Given the description of an element on the screen output the (x, y) to click on. 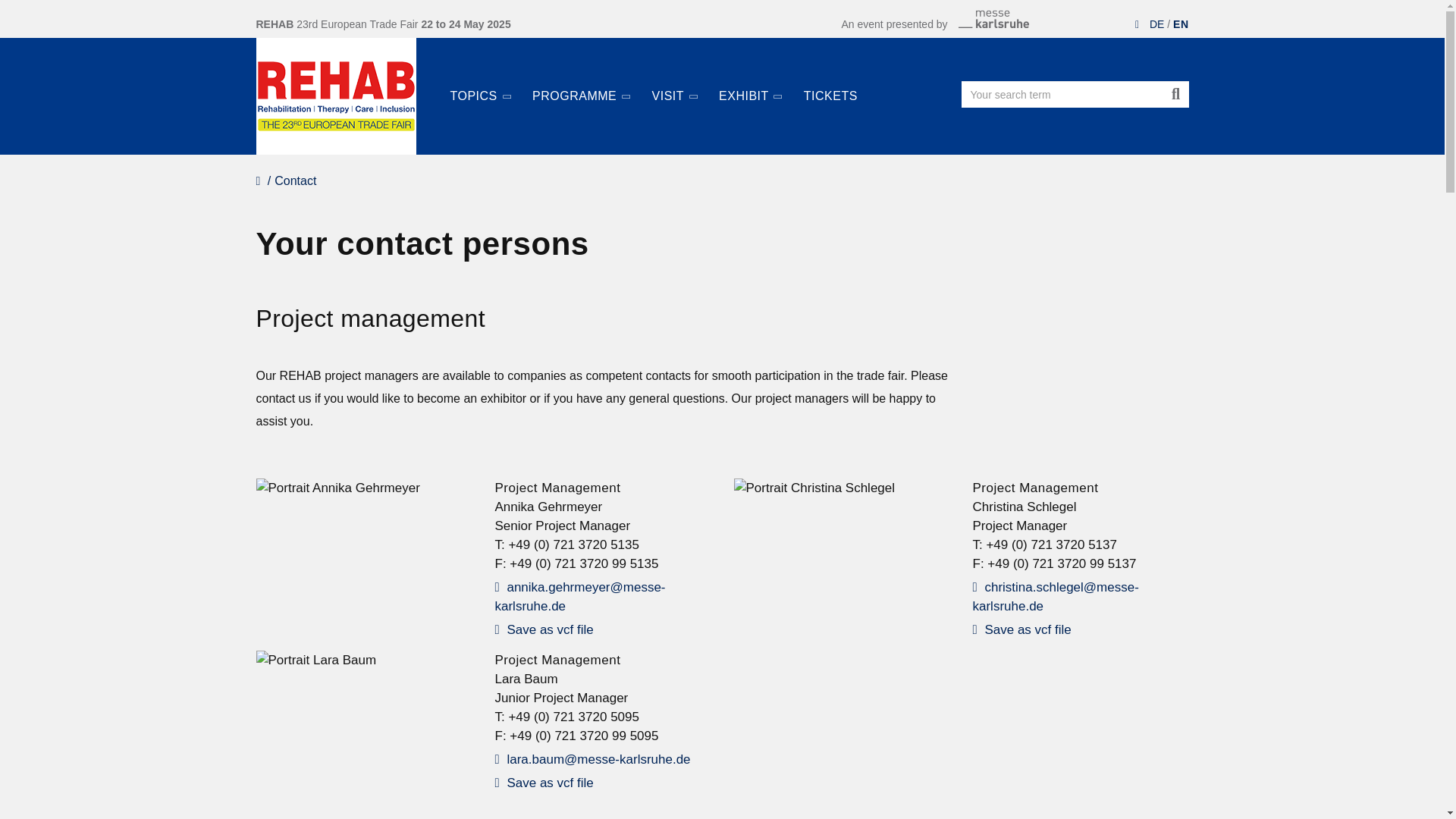
VISIT (674, 87)
PROGRAMME (580, 87)
Contact (295, 180)
TICKETS (830, 86)
EN (1180, 24)
EXHIBIT (749, 87)
Homepage (336, 95)
TOPICS (480, 87)
DE (1156, 24)
To Top (1425, 759)
